Given the description of an element on the screen output the (x, y) to click on. 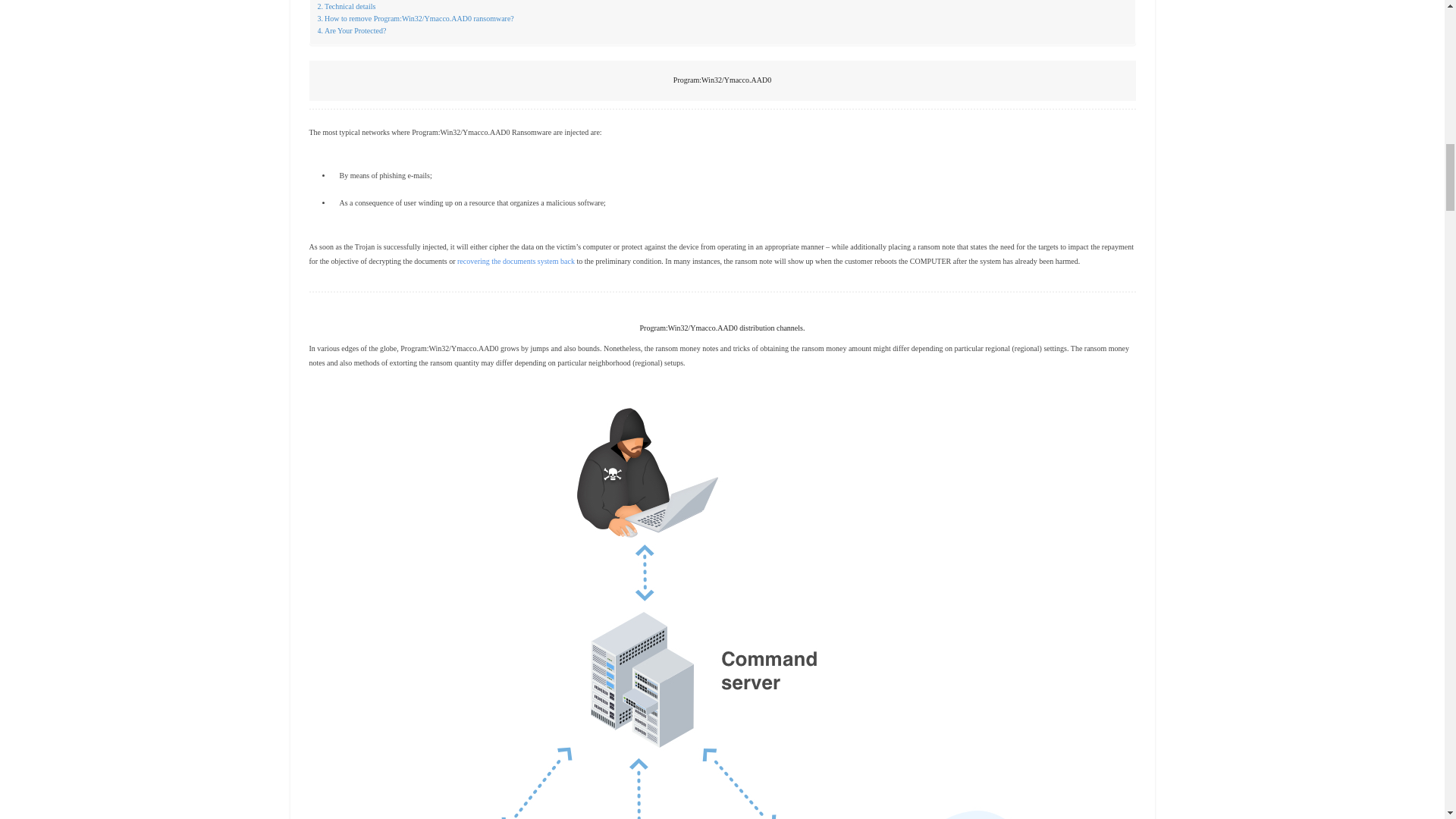
Technical details (346, 6)
recovering the documents system back (516, 261)
Technical details (346, 6)
Are Your Protected? (351, 30)
Are Your Protected? (351, 30)
